Given the description of an element on the screen output the (x, y) to click on. 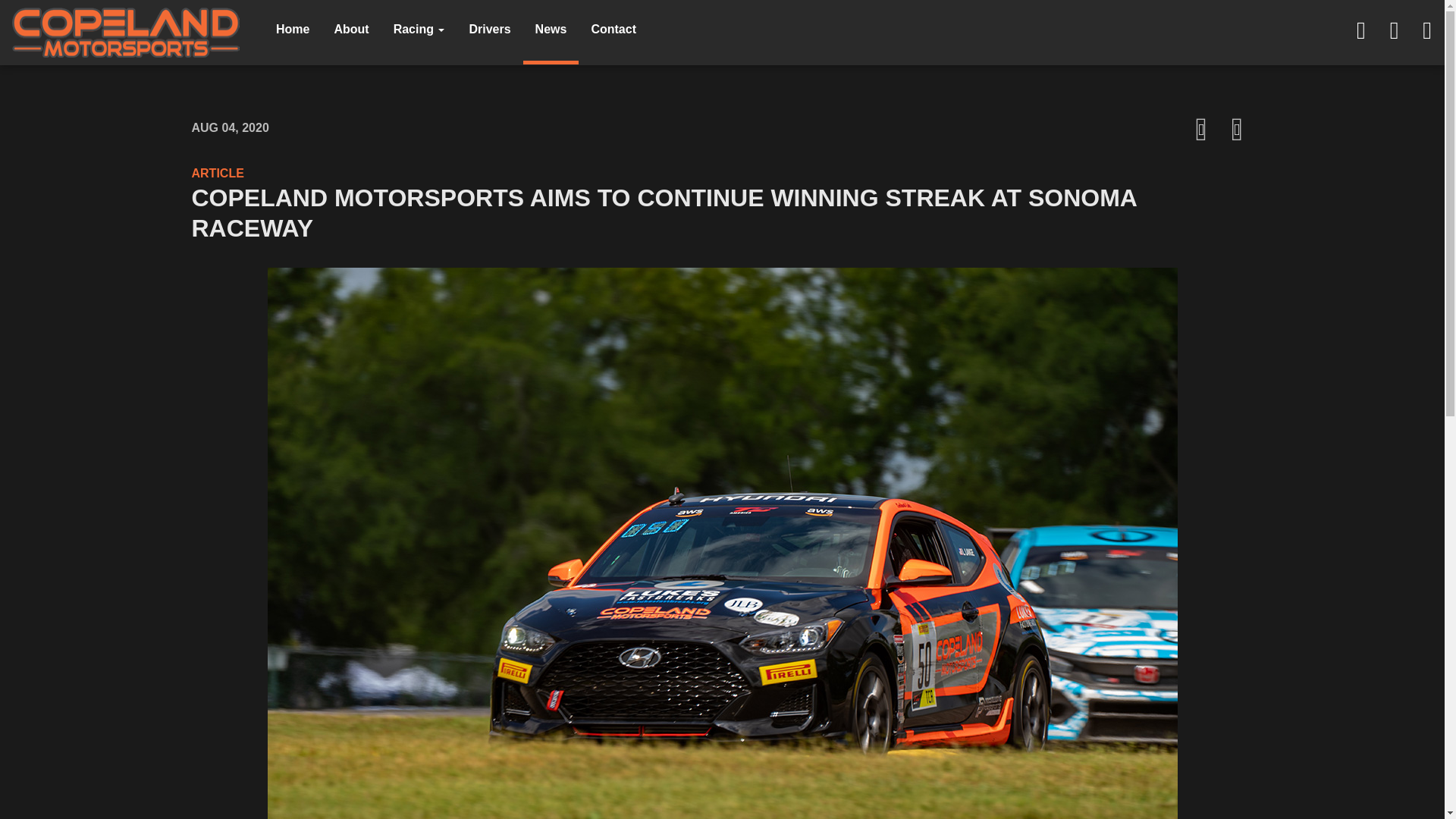
Racing (419, 32)
Contact (612, 32)
About (350, 32)
Instagram (1427, 32)
Share on Twitter (1237, 128)
News (550, 32)
Drivers (489, 32)
Home (292, 32)
Twitter (1393, 32)
Home (292, 32)
Racing (419, 32)
Facebook (1360, 32)
Share on Facebook (1201, 128)
Share on Twitter (1237, 128)
About (350, 32)
